Given the description of an element on the screen output the (x, y) to click on. 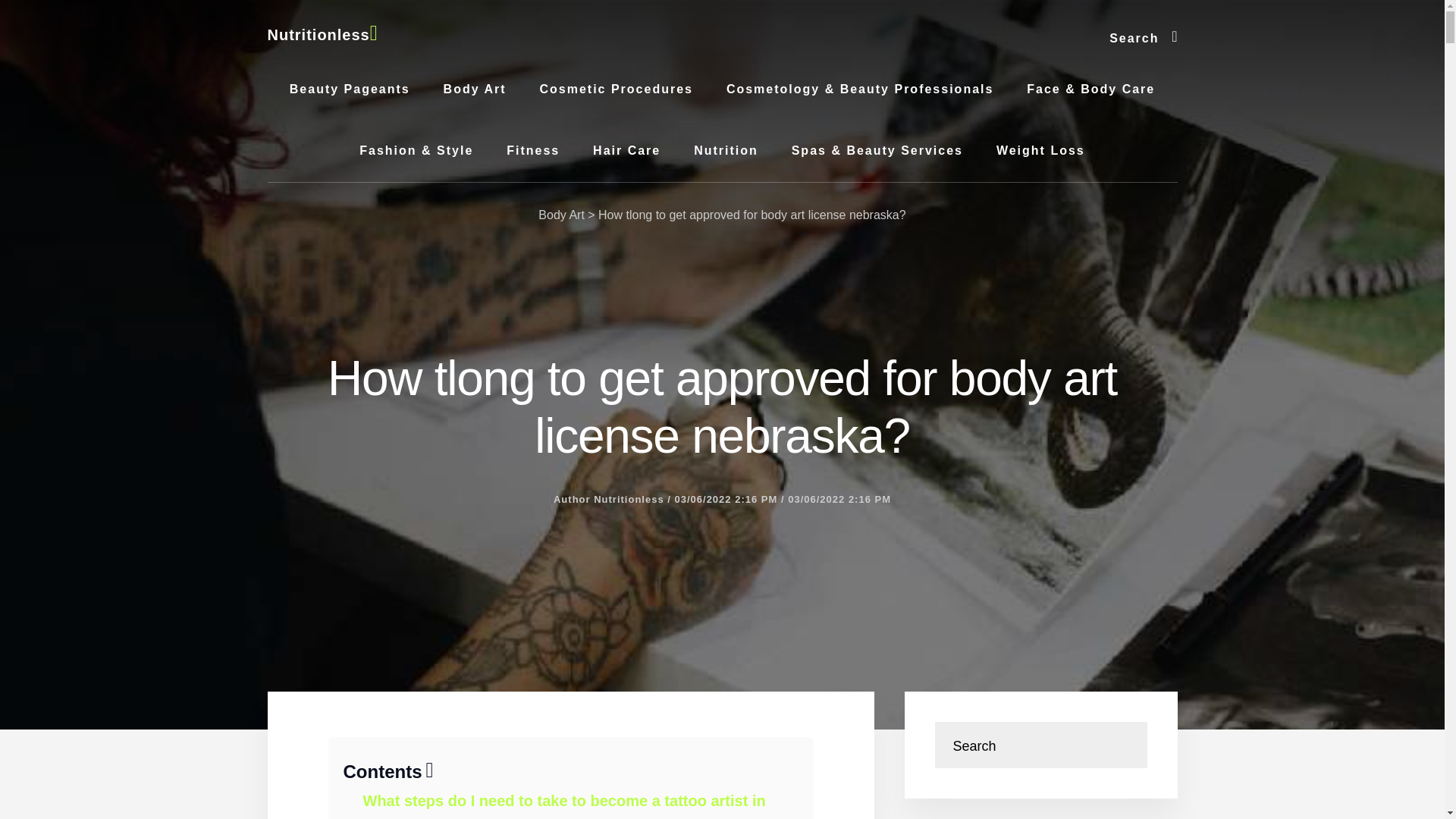
Nutritionless (321, 34)
Beauty Pageants (350, 89)
Cosmetic Procedures (615, 89)
Body Art (474, 89)
Nutrition (725, 150)
Hair Care (626, 150)
Fitness (533, 150)
Weight Loss (1040, 150)
Body Art (560, 214)
